Given the description of an element on the screen output the (x, y) to click on. 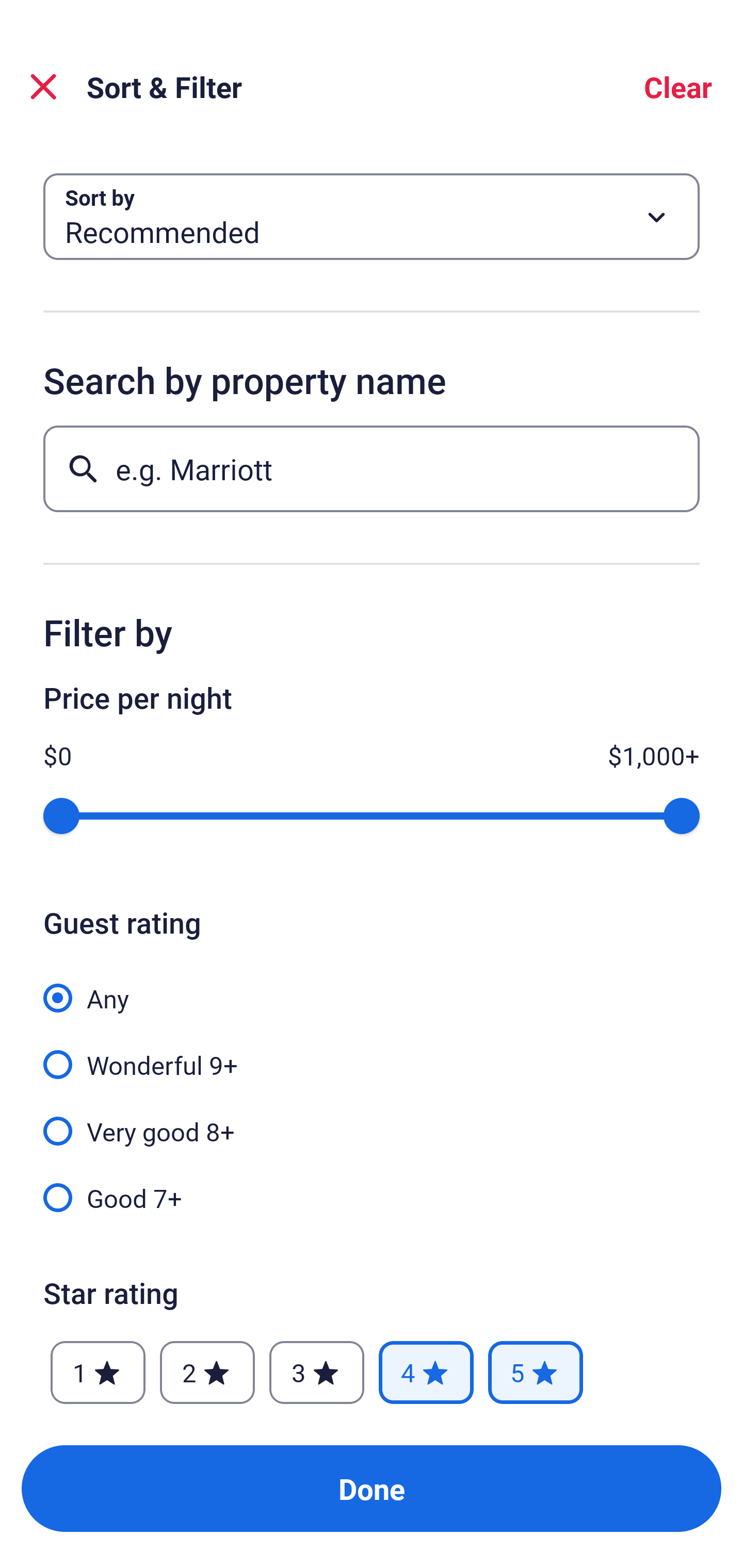
Close Sort and Filter (43, 86)
Clear (677, 86)
Sort by Button Recommended (371, 217)
e.g. Marriott Button (371, 468)
Wonderful 9+ (371, 1053)
Very good 8+ (371, 1120)
Good 7+ (371, 1197)
1 (97, 1372)
2 (206, 1372)
3 (316, 1372)
4 (426, 1372)
5 (535, 1372)
Apply and close Sort and Filter Done (371, 1488)
